Given the description of an element on the screen output the (x, y) to click on. 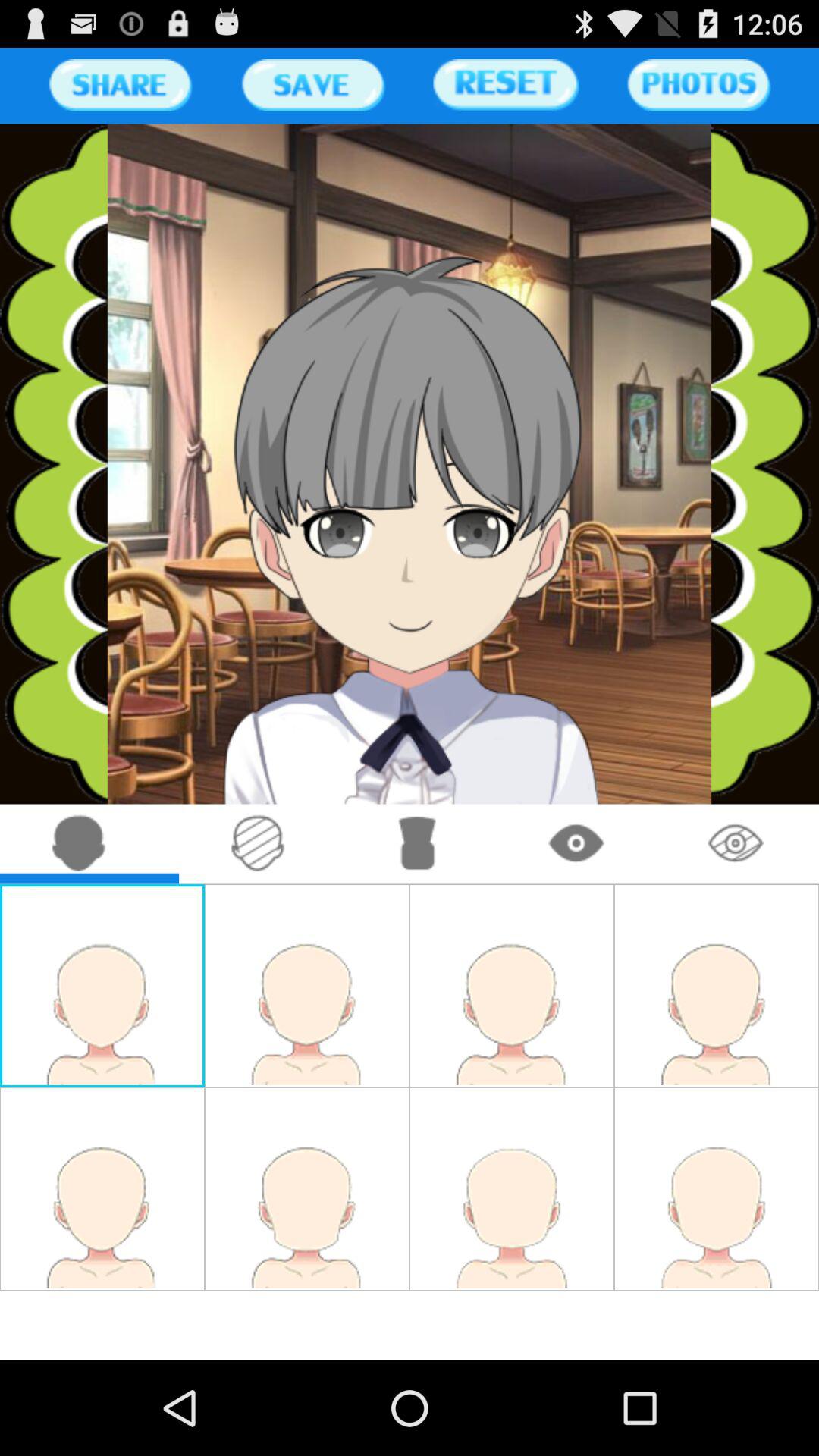
select neck tie options (417, 843)
